Given the description of an element on the screen output the (x, y) to click on. 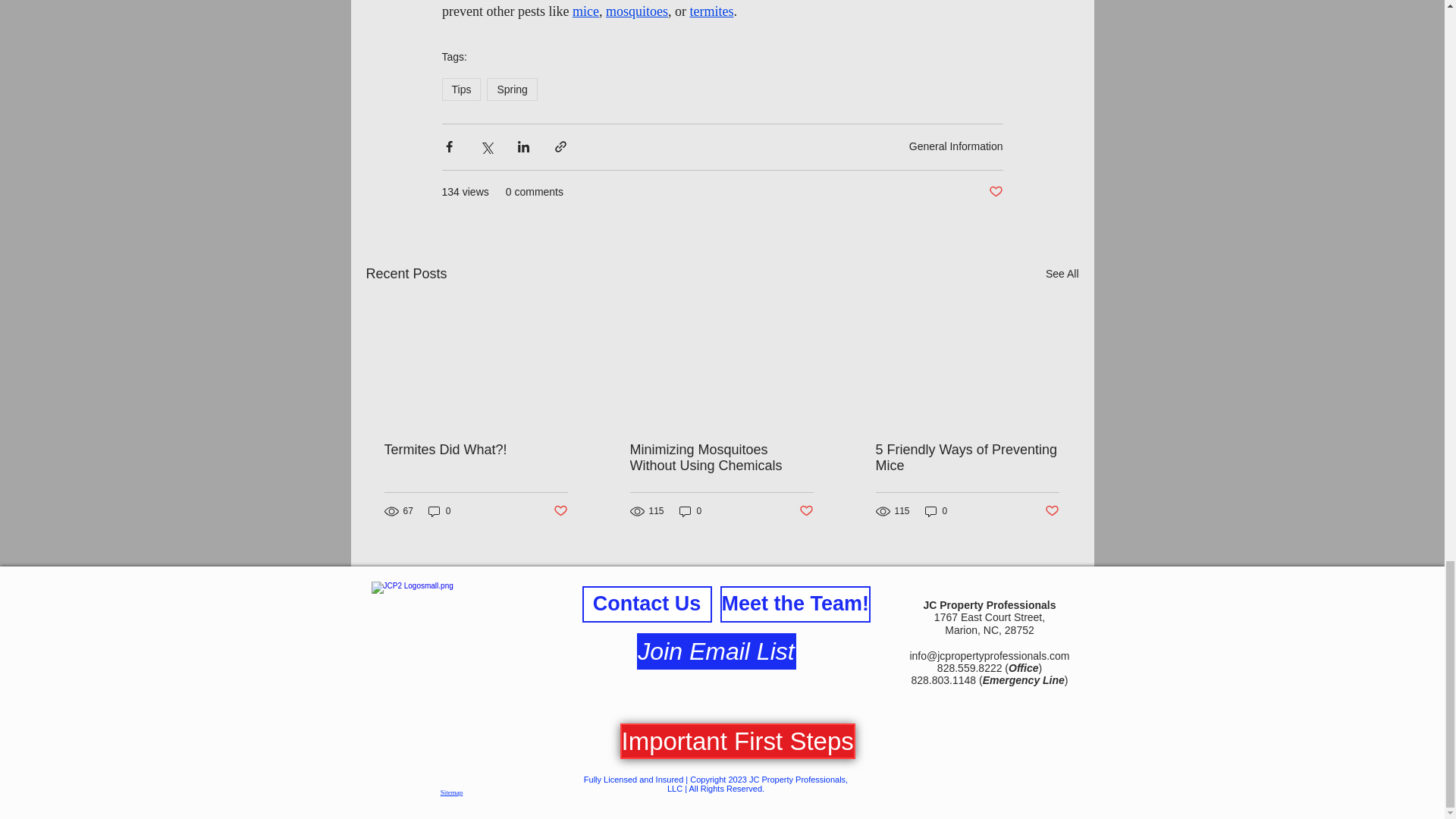
termites (710, 11)
Sitemap (452, 792)
Post not marked as liked (995, 191)
5 Friendly Ways of Preventing Mice (966, 458)
Spring (511, 88)
See All (1061, 273)
Minimizing Mosquitoes Without Using Chemicals (720, 458)
Contact Us (646, 604)
Tips (460, 88)
0 (439, 511)
